Given the description of an element on the screen output the (x, y) to click on. 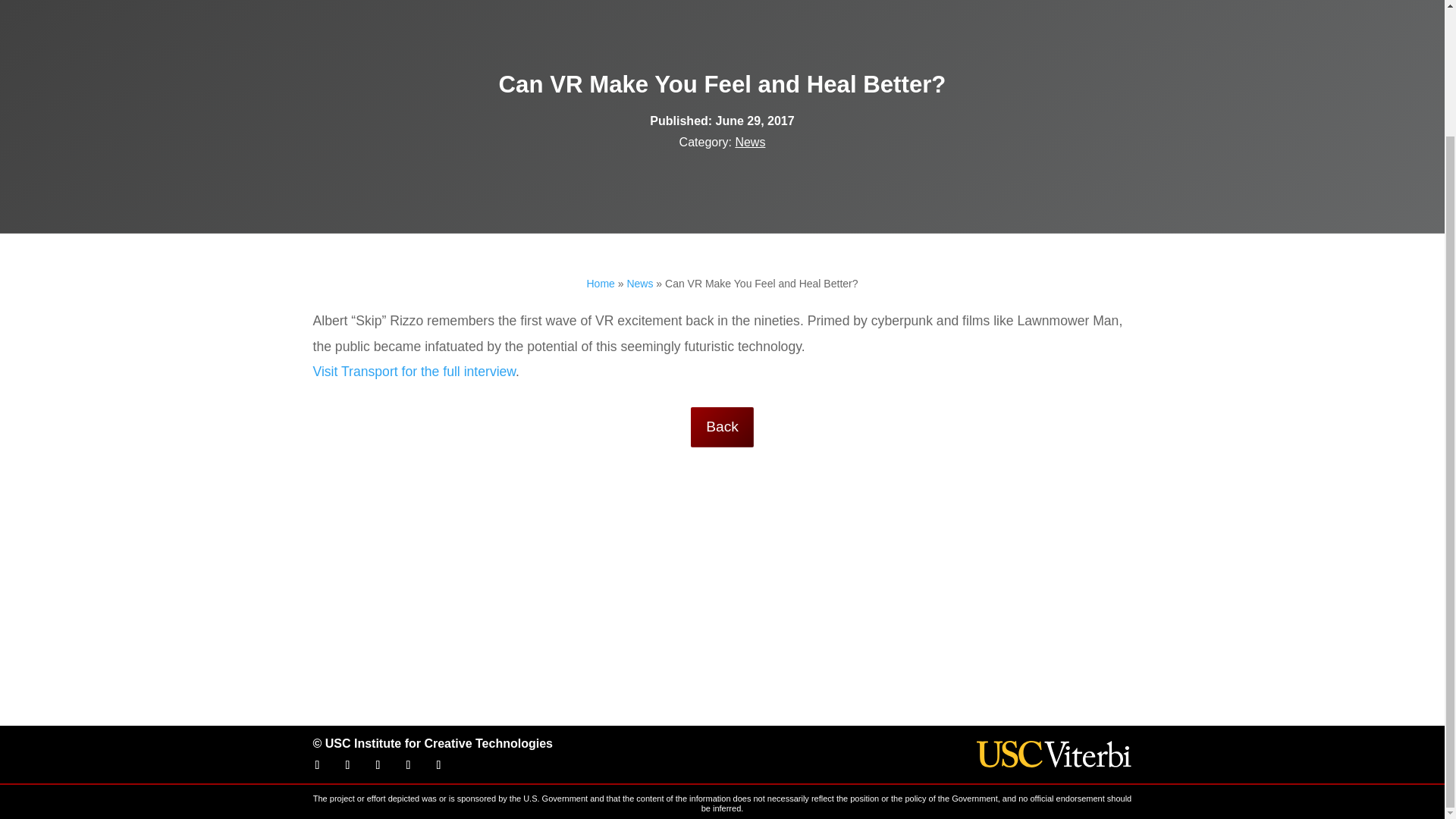
Follow on X (346, 764)
viterbi-logo (1053, 754)
Follow on Instagram (437, 764)
Follow on Facebook (316, 764)
Follow on Youtube (377, 764)
Follow on LinkedIn (408, 764)
